Given the description of an element on the screen output the (x, y) to click on. 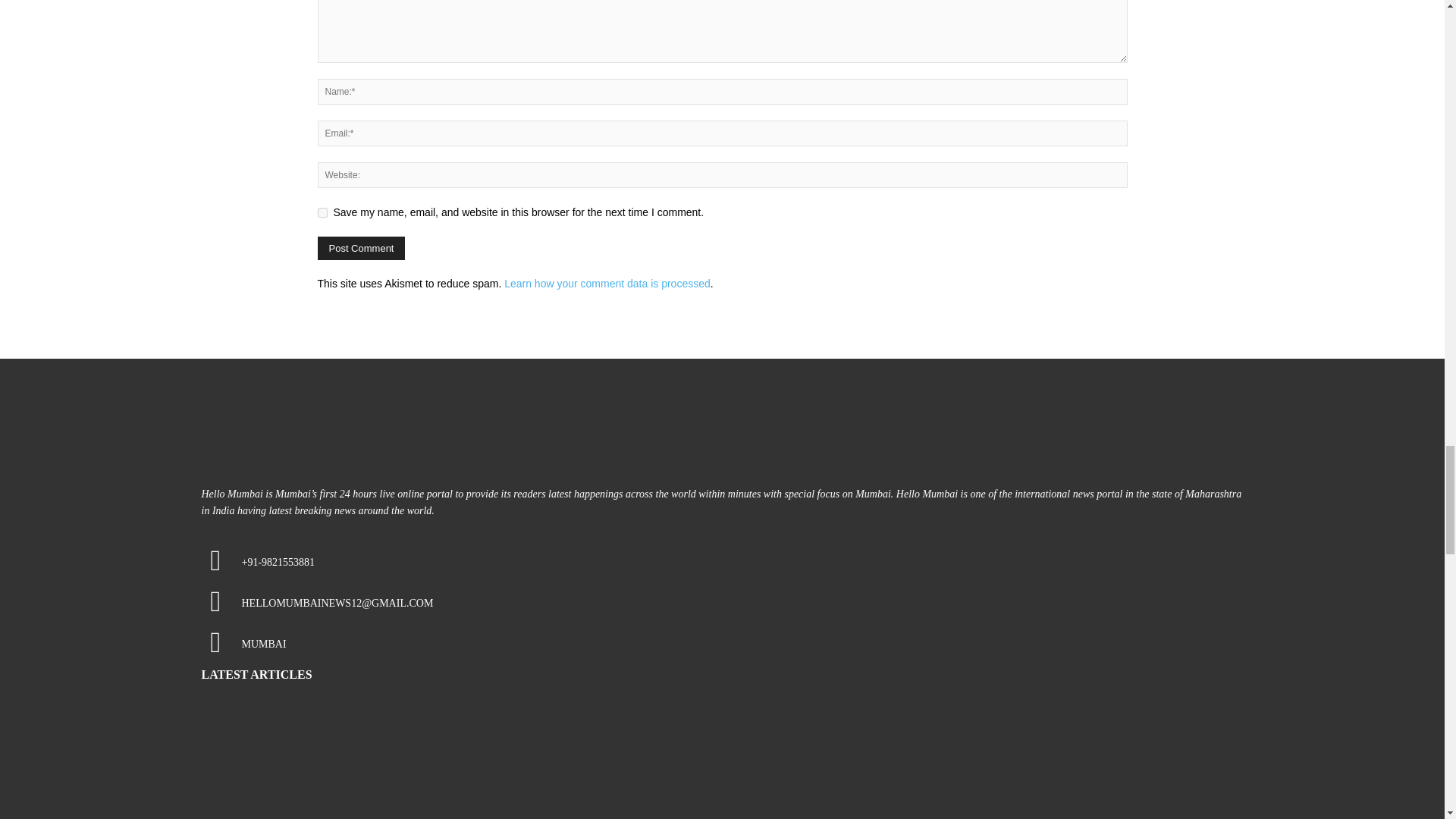
yes (321, 212)
Post Comment (360, 248)
